Given the description of an element on the screen output the (x, y) to click on. 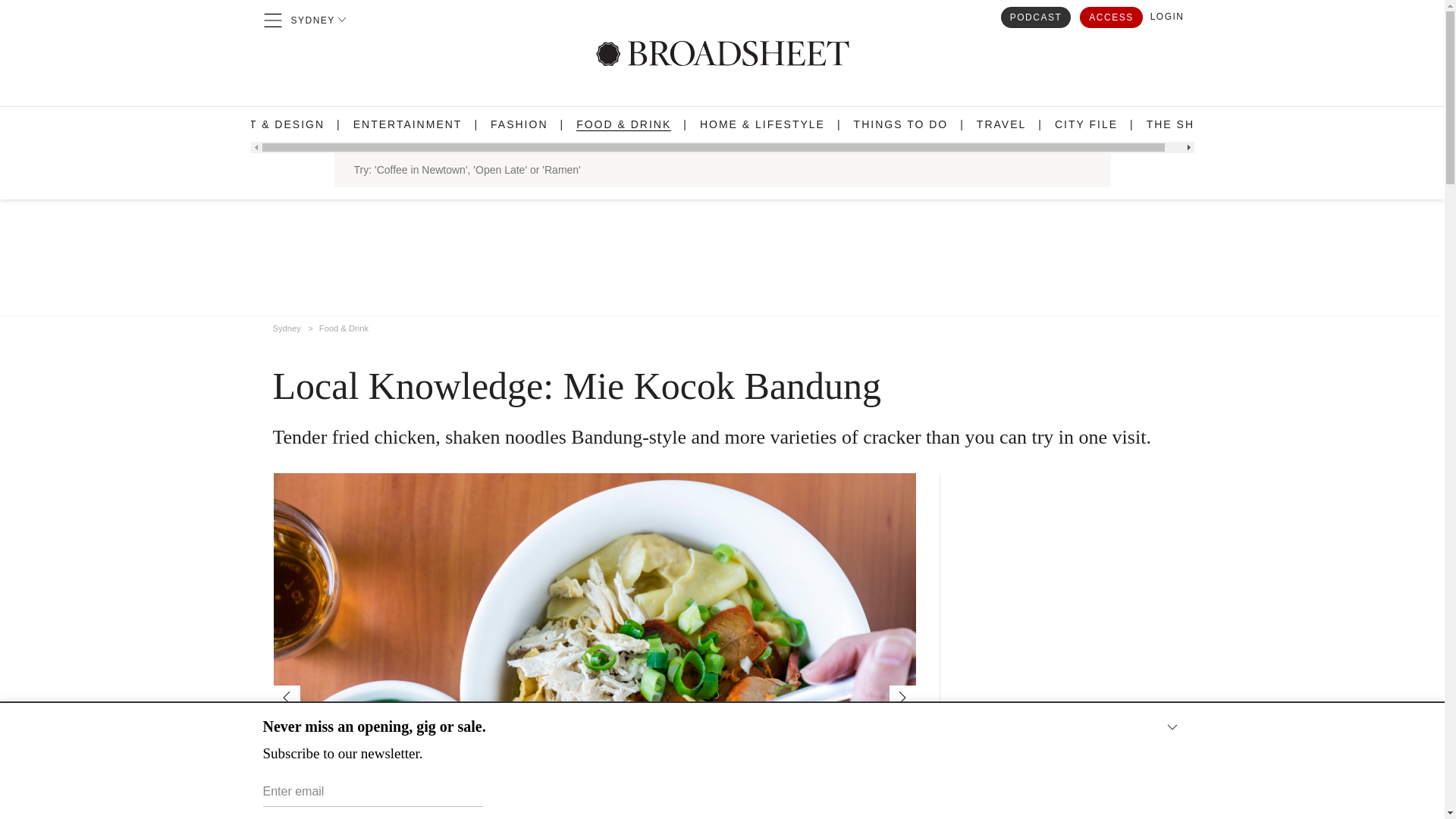
ACCESS (1110, 16)
ENTERTAINMENT (408, 124)
Broadsheet (721, 53)
Sydney (287, 325)
THE SHOP (1179, 124)
CITY FILE (1086, 124)
THINGS TO DO (901, 124)
TRAVEL (1001, 124)
PODCAST (1036, 16)
